Given the description of an element on the screen output the (x, y) to click on. 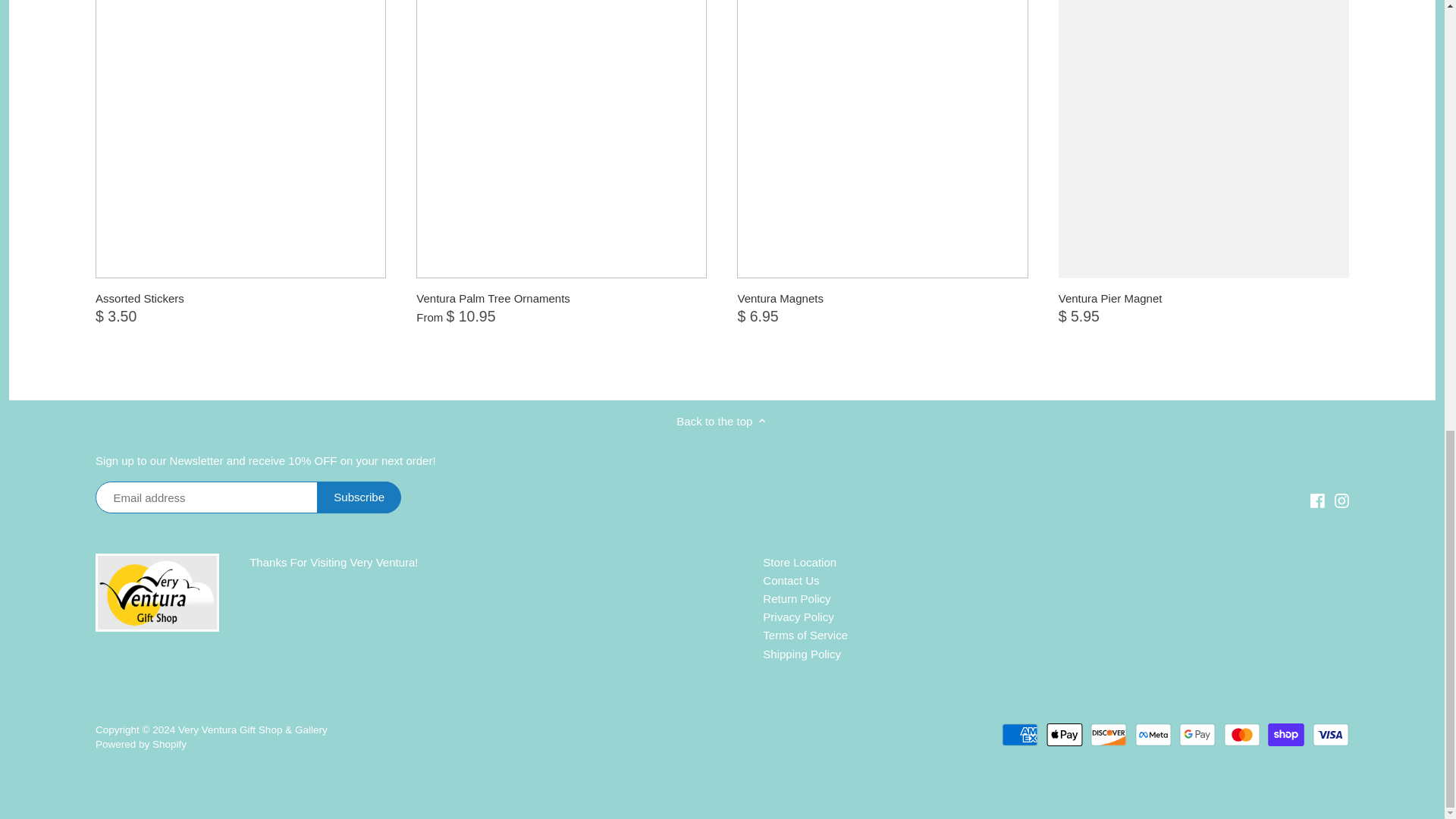
Mastercard (1242, 734)
Shop Pay (1286, 734)
Google Pay (1197, 734)
Facebook (1317, 498)
American Express (1019, 734)
Discover (1108, 734)
Instagram (1342, 498)
Facebook (1317, 500)
Instagram (1341, 500)
Meta Pay (1153, 734)
